Given the description of an element on the screen output the (x, y) to click on. 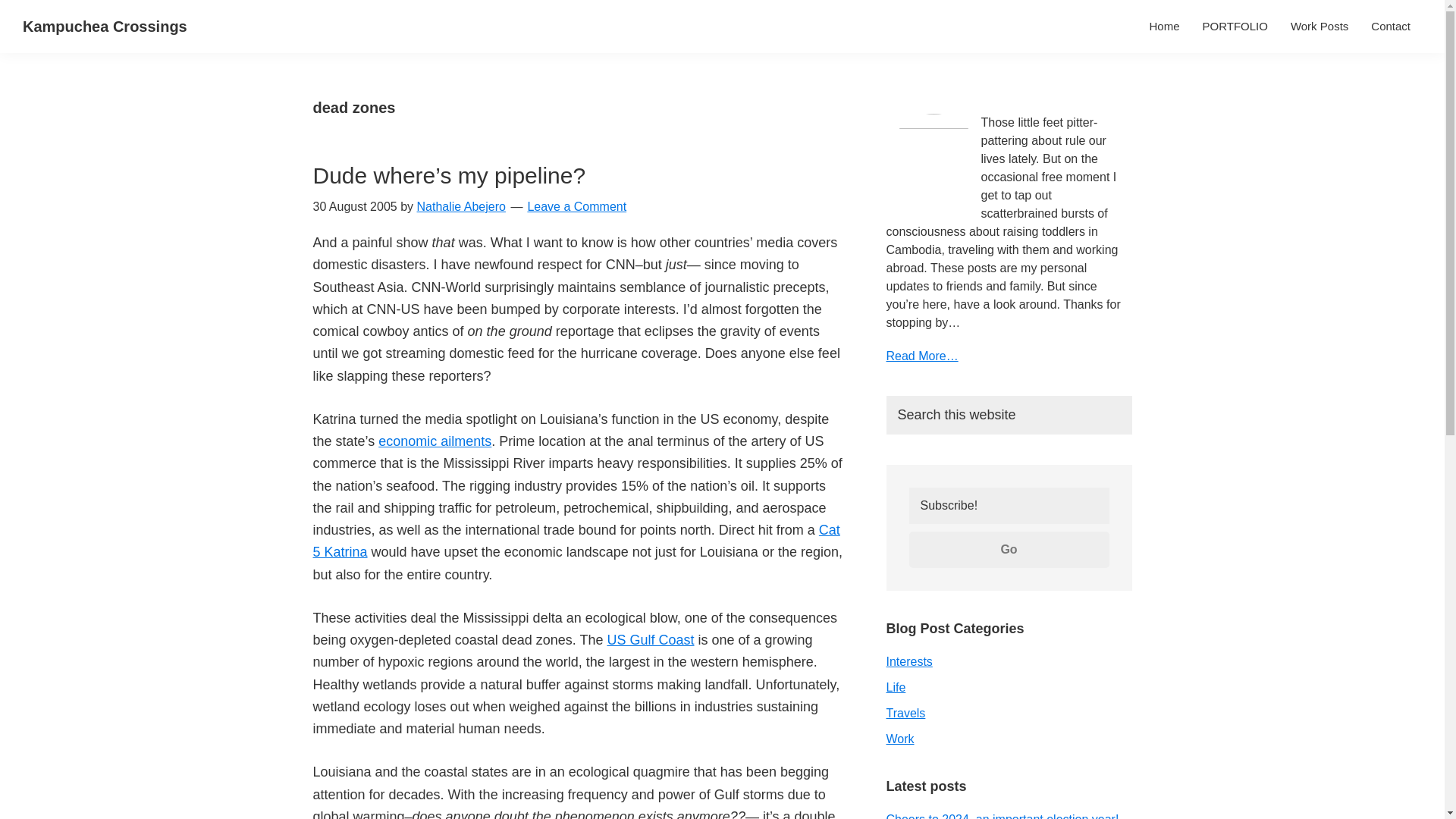
Contact (1390, 25)
Work Posts (1319, 25)
Cheers to 2024, an important election year! (1001, 816)
Life (895, 686)
Nathalie Abejero (460, 205)
Work (899, 738)
Kampuchea Crossings (105, 26)
Interests (908, 661)
Home (1164, 25)
